Given the description of an element on the screen output the (x, y) to click on. 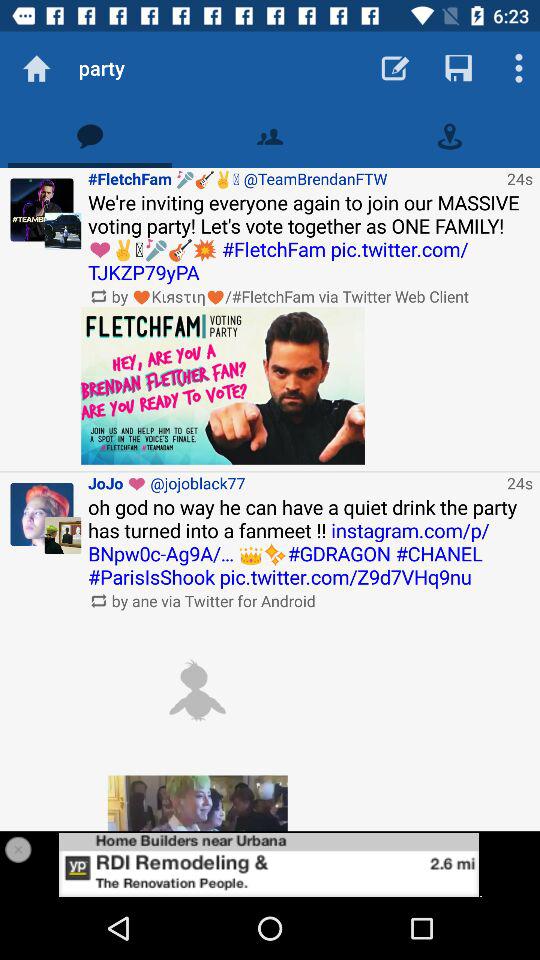
return to home page (36, 68)
